Given the description of an element on the screen output the (x, y) to click on. 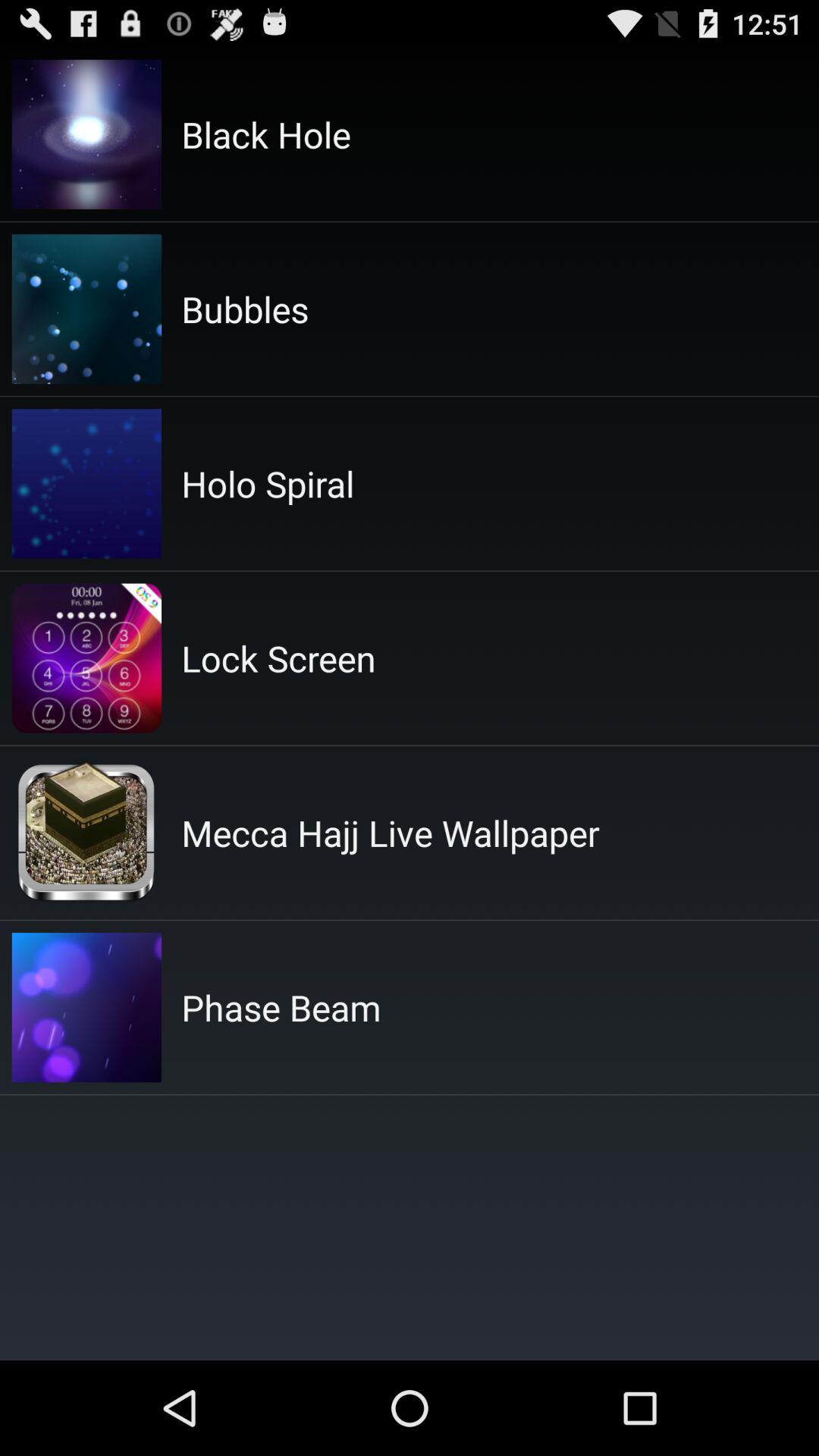
open app above holo spiral icon (244, 308)
